Given the description of an element on the screen output the (x, y) to click on. 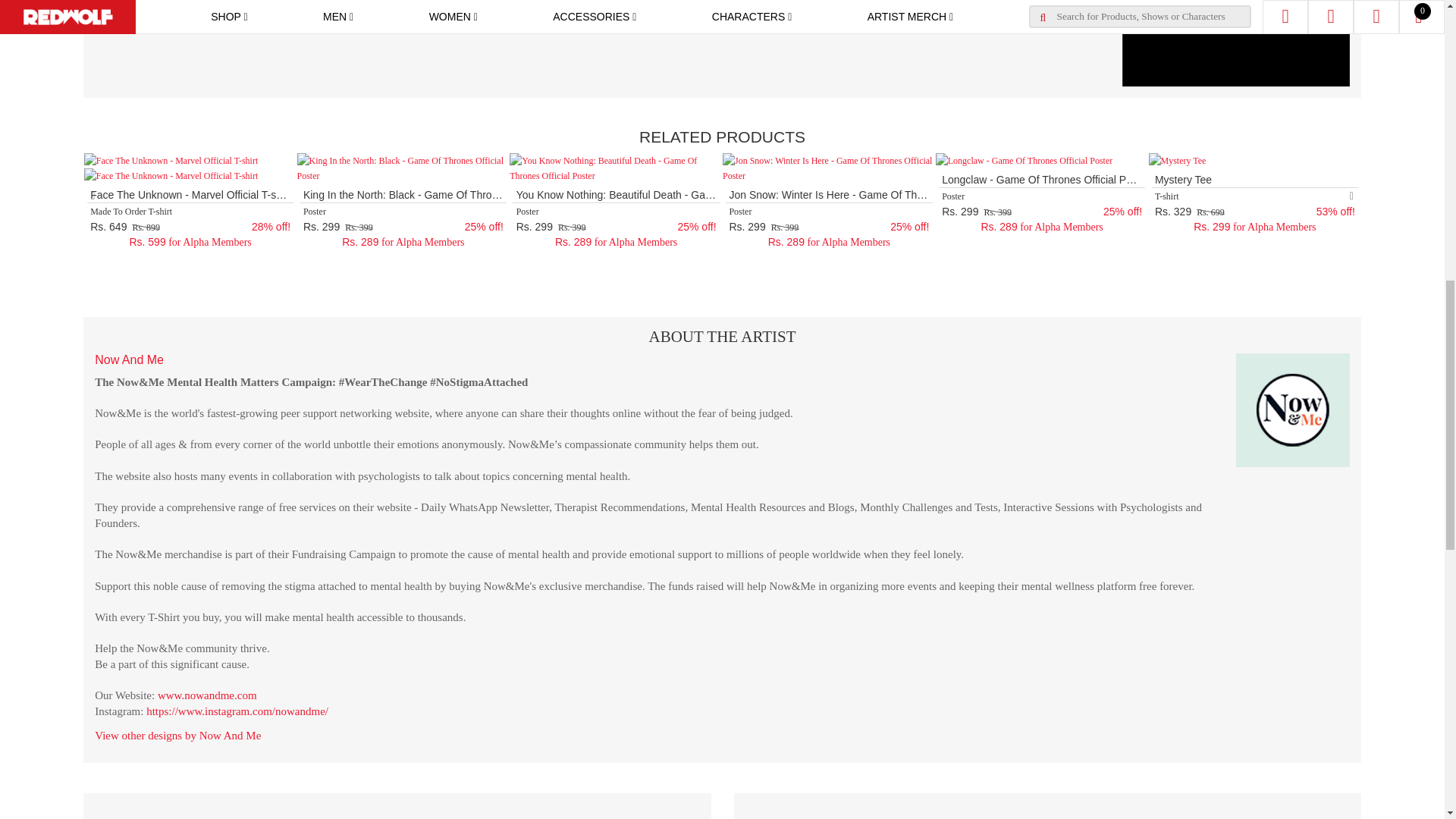
King In the North: Black - Game Of Thrones Official Poster (404, 168)
Face The Unknown - Marvel Official T-shirt (171, 160)
Jon Snow: Winter Is Here - Game Of Thrones Official Poster (829, 168)
Mystery Tee (1176, 160)
Longclaw - Game Of Thrones Official Poster (1024, 160)
